Given the description of an element on the screen output the (x, y) to click on. 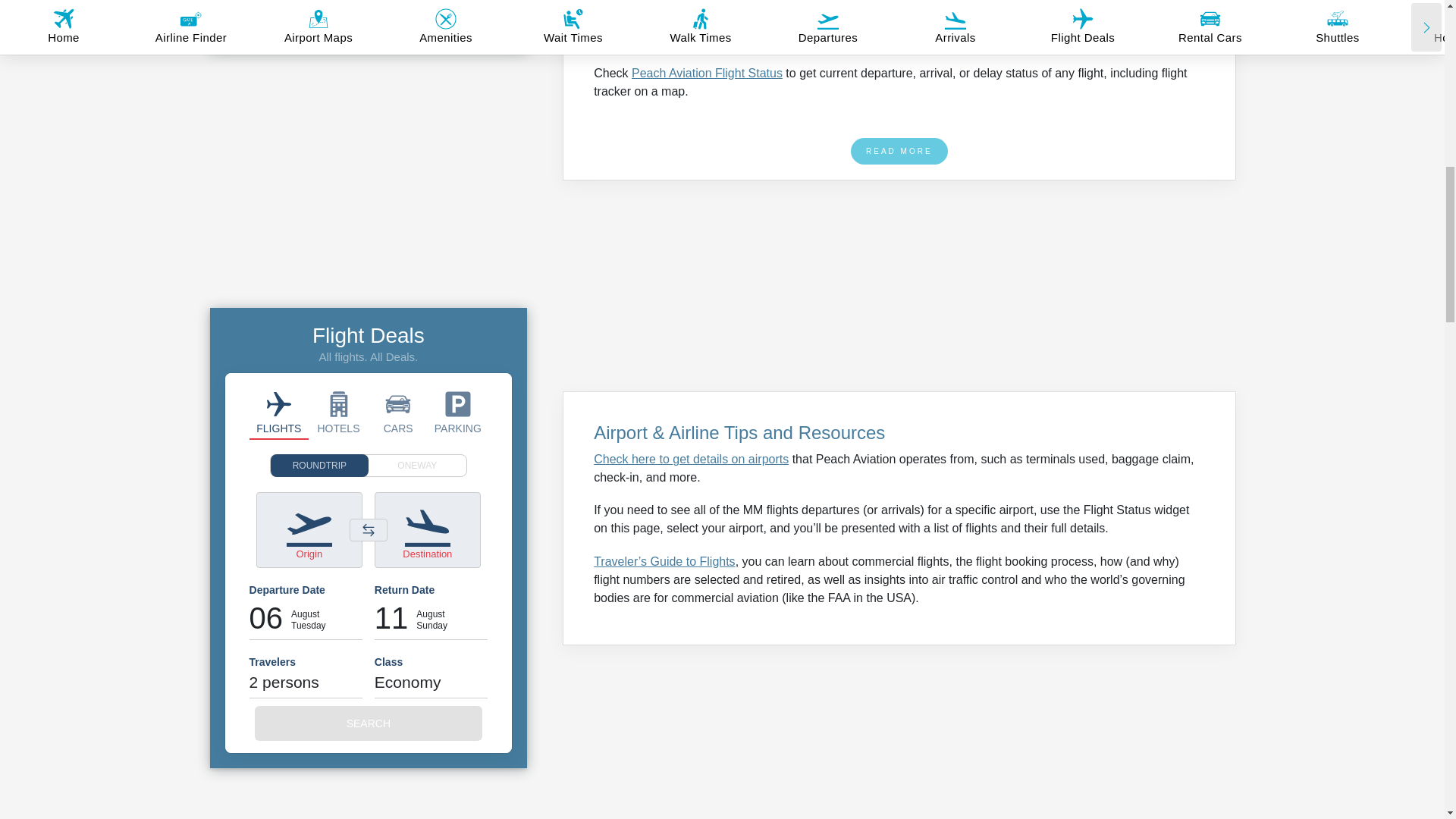
Off-Airport Parking (457, 411)
 Flight Deals (278, 411)
Hotel Deals (338, 411)
Airport Rental Cars (398, 411)
